Given the description of an element on the screen output the (x, y) to click on. 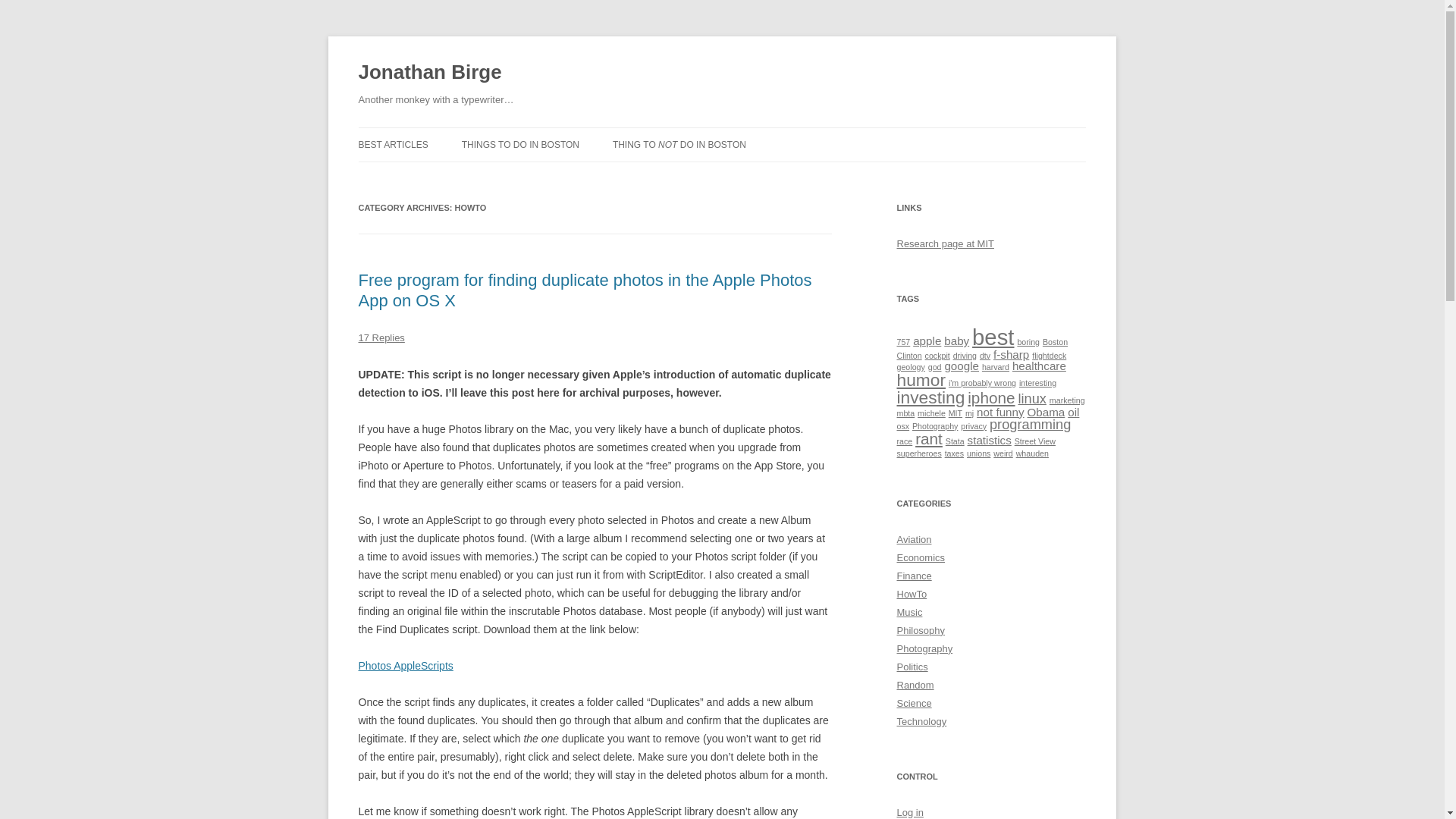
Photos AppleScripts (405, 665)
google (960, 365)
cockpit (937, 355)
17 Replies (381, 337)
THINGS TO DO IN BOSTON (520, 144)
boring (1027, 341)
Clinton (908, 355)
geology (910, 366)
My research website at MIT. (944, 243)
dtv (984, 355)
